Given the description of an element on the screen output the (x, y) to click on. 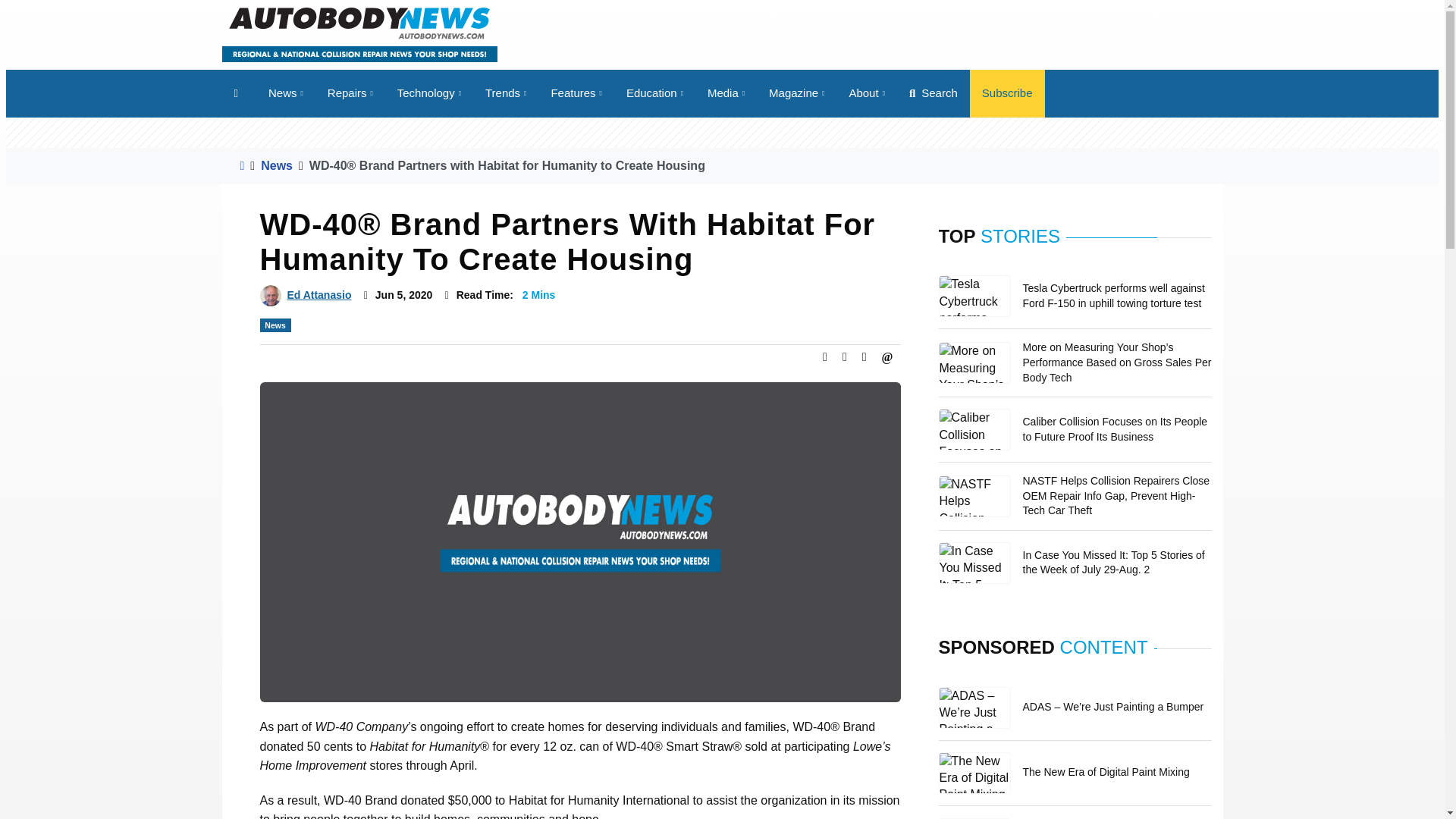
Autobody News (358, 33)
Repairs (350, 93)
News (285, 93)
Technology (429, 93)
Features (576, 93)
Trends (505, 93)
